Given the description of an element on the screen output the (x, y) to click on. 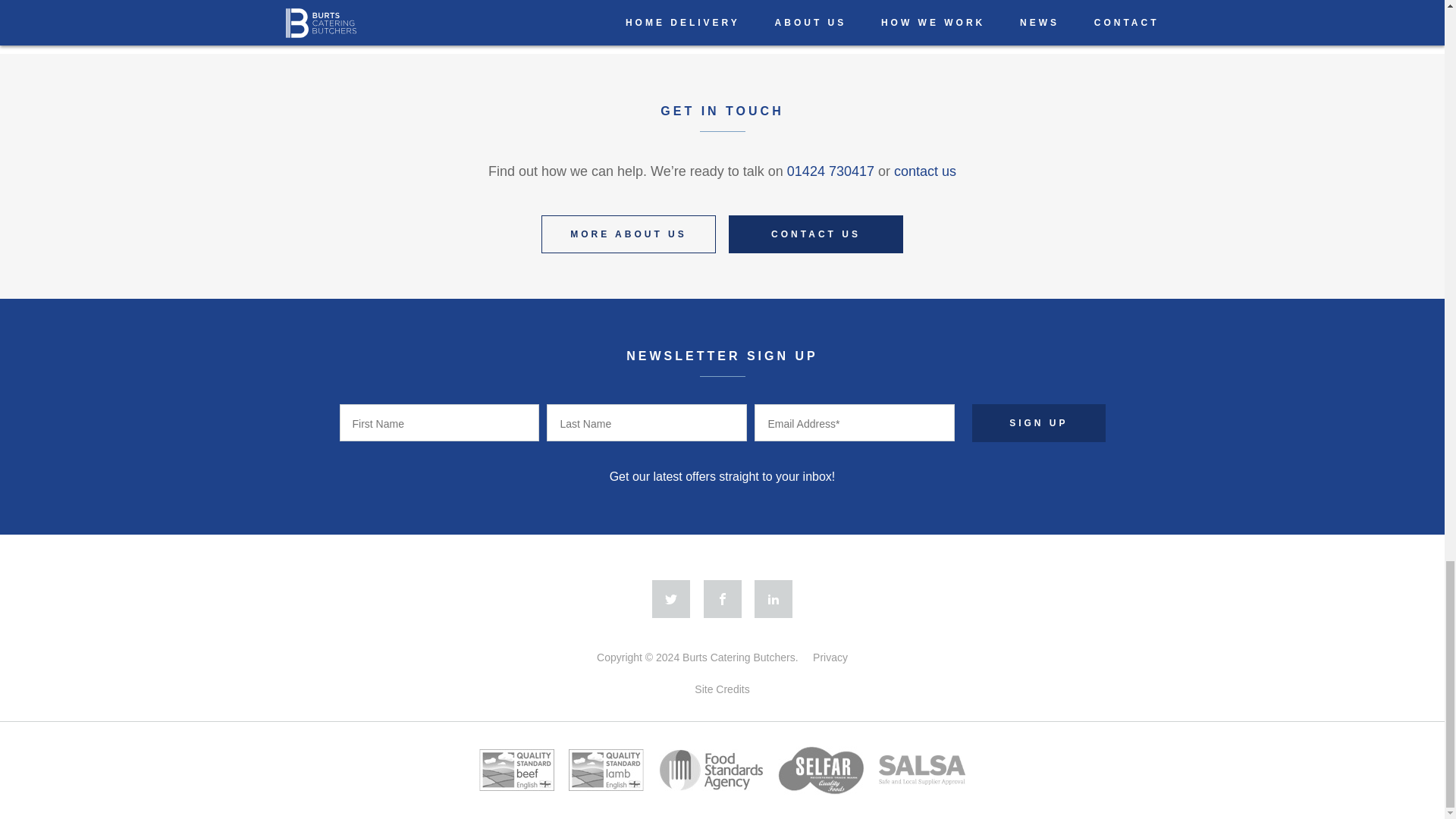
Sign Up (1038, 423)
MORE ABOUT US (628, 234)
01424 730417 (831, 171)
Privacy (829, 657)
contact us (924, 171)
Sign Up (1038, 423)
Site Credits (721, 689)
CONTACT US (815, 234)
